Given the description of an element on the screen output the (x, y) to click on. 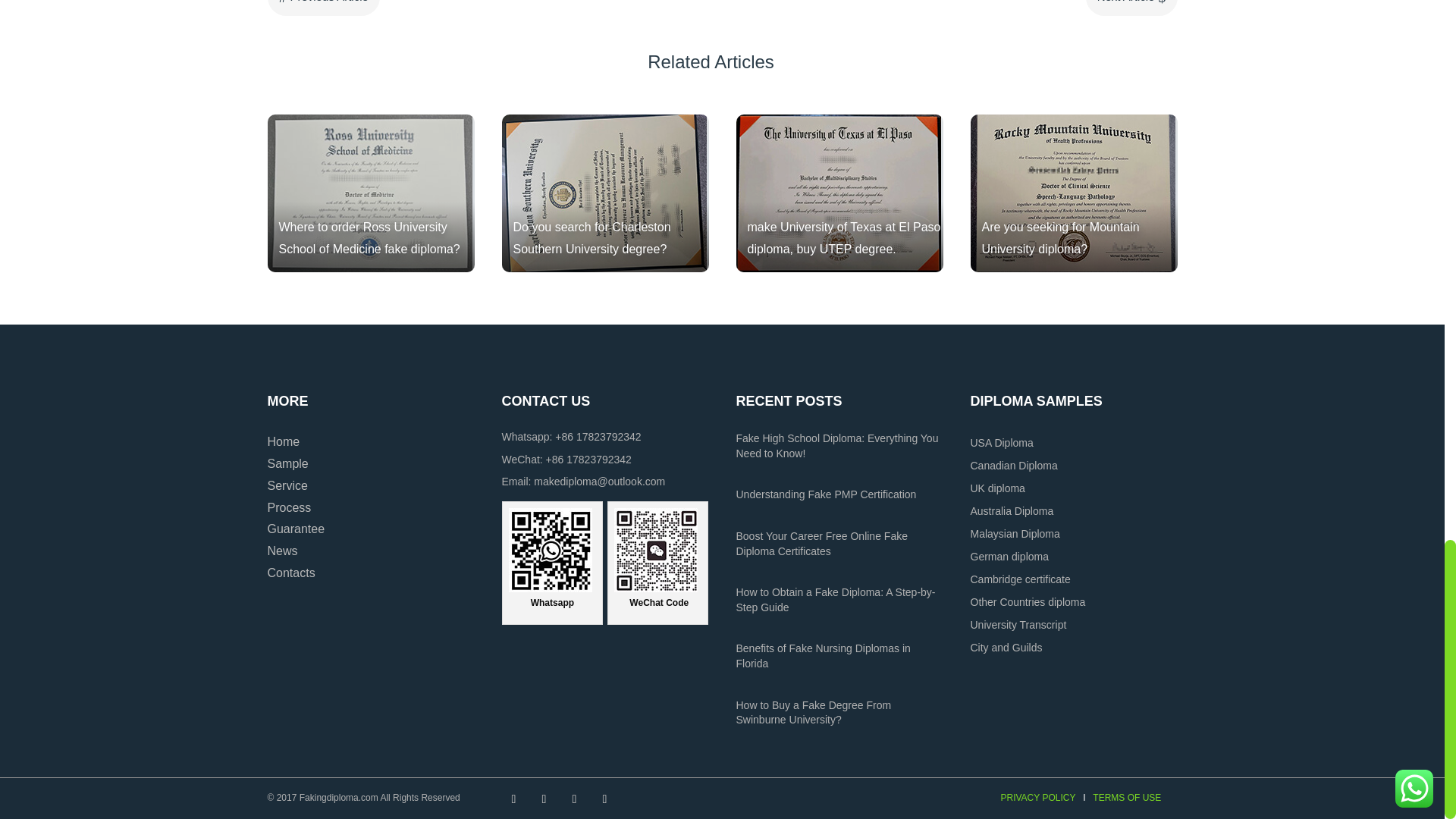
Do you search for Charleston Southern University degree? (605, 192)
Home (282, 440)
Do you search for Charleston Southern University degree? (605, 192)
Guarantee (295, 528)
Sample (286, 463)
Follow on Twitter (544, 799)
Follow on Instagram (574, 799)
Are you seeking for Mountain University diploma? (1074, 192)
